Given the description of an element on the screen output the (x, y) to click on. 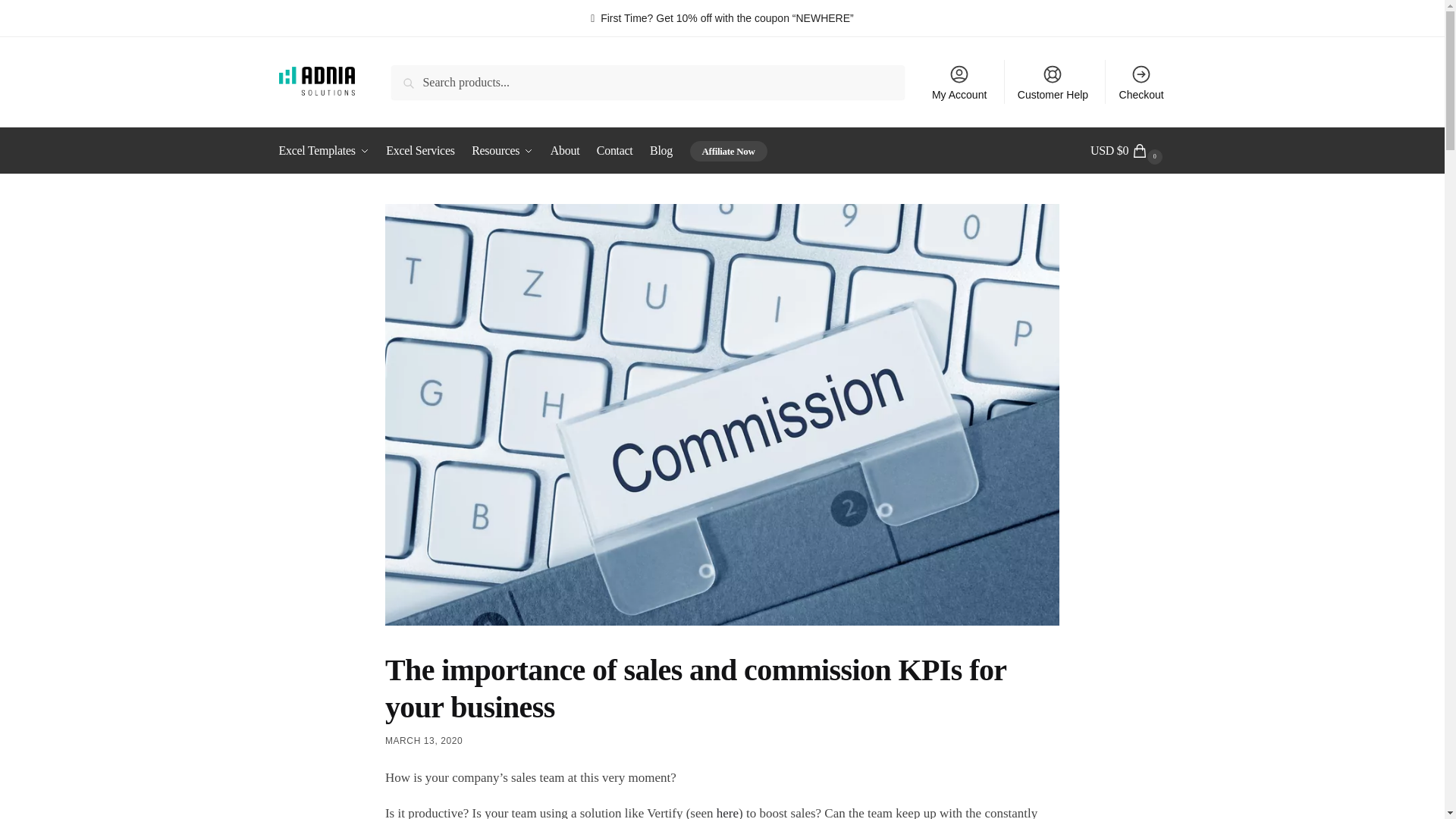
Customer Help (1053, 81)
Search (412, 75)
Affiliate Now (728, 150)
Excel Templates (327, 150)
Excel Services (419, 150)
My Account (959, 81)
Resources (502, 150)
Contact (614, 150)
Checkout (1141, 81)
About (564, 150)
View your shopping cart (1128, 150)
